Given the description of an element on the screen output the (x, y) to click on. 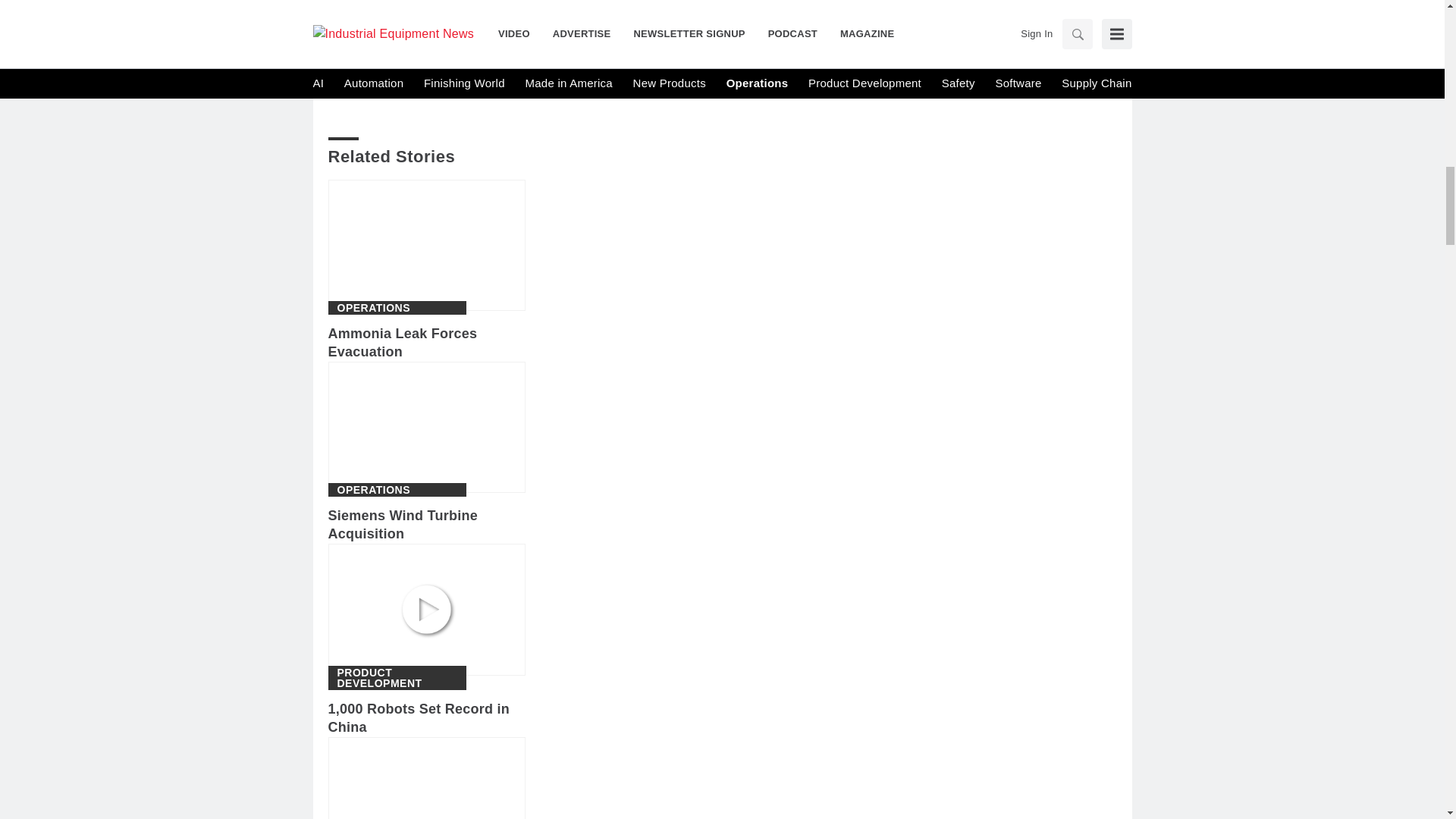
Operations (373, 489)
Operations (373, 307)
Product Development (396, 677)
